Given the description of an element on the screen output the (x, y) to click on. 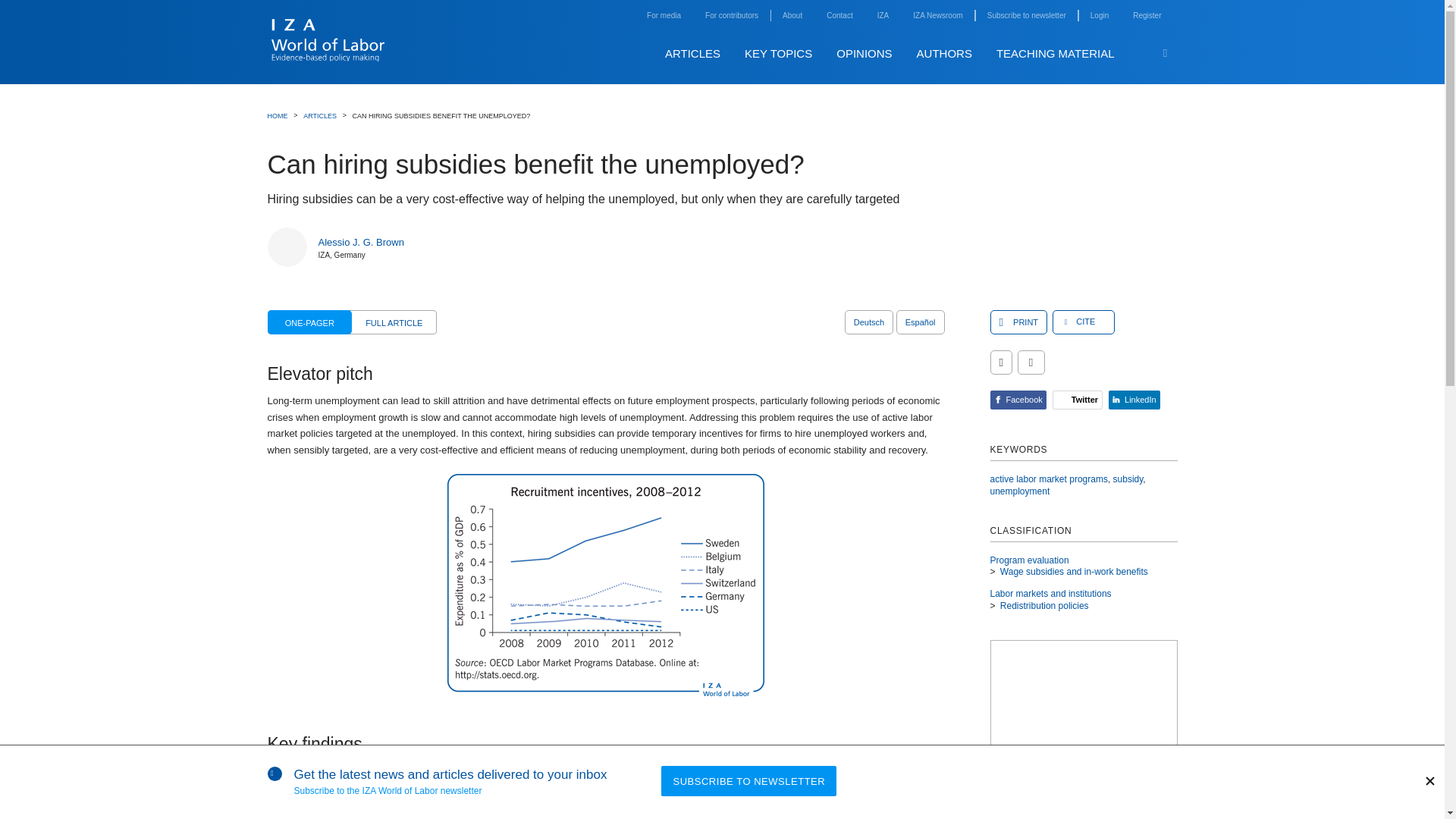
about (792, 15)
IZA Newsroom (937, 15)
register (1146, 15)
Login (1099, 15)
For media (663, 15)
Skip to main content (1189, 37)
contact (839, 15)
for contributors (731, 15)
ARTICLES (692, 52)
subscribe to newsletter (1026, 15)
